Given the description of an element on the screen output the (x, y) to click on. 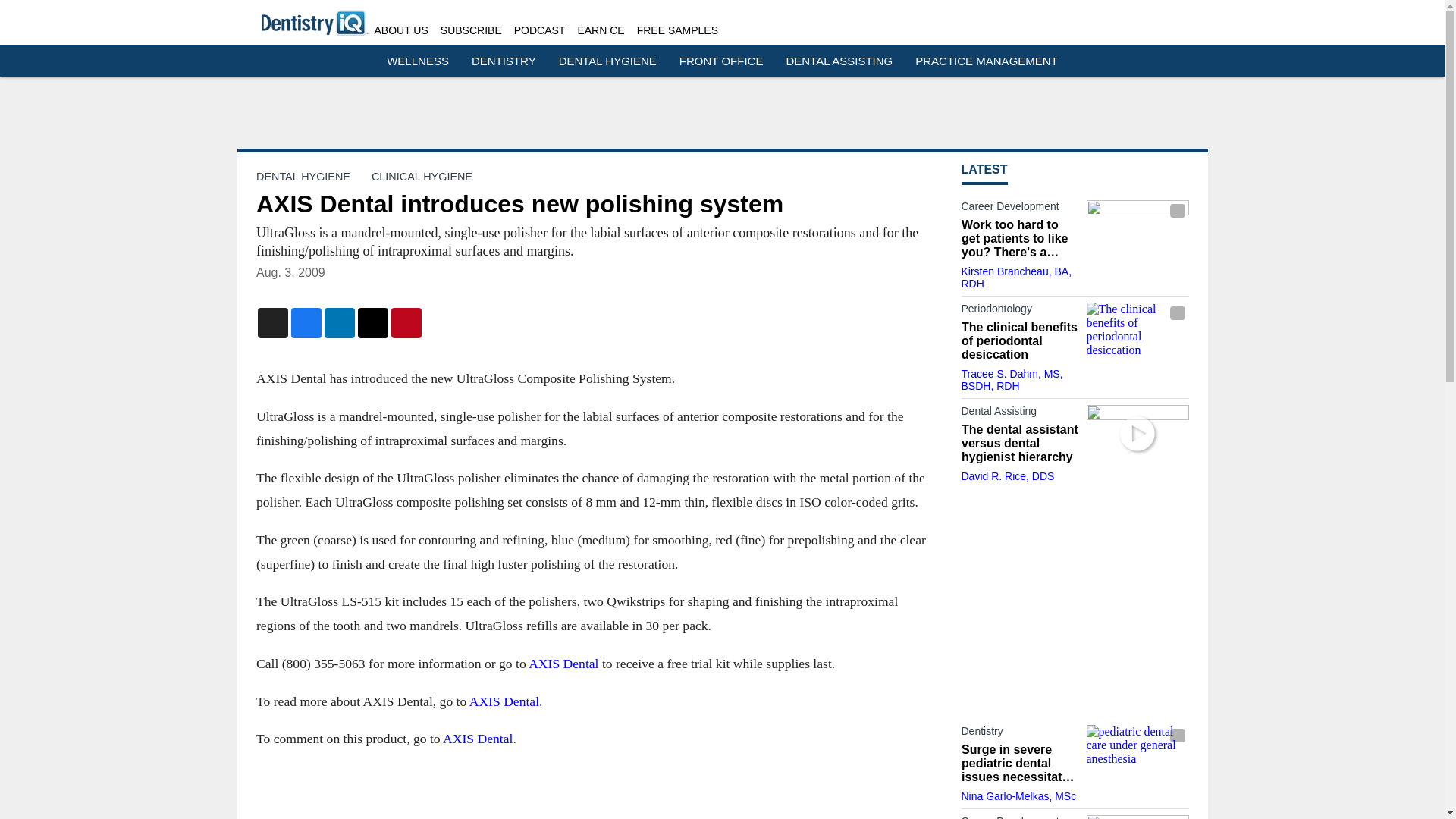
PODCAST (539, 30)
The clinical benefits of periodontal desiccation (1137, 330)
FRONT OFFICE (720, 60)
The dental assistant versus dental hygienist hierarchy (1019, 443)
David R. Rice, DDS (1007, 476)
Nina Garlo-Melkas, MSc (1018, 796)
Career Development (1019, 208)
Tracee S. Dahm, MS, BSDH, RDH (1011, 379)
EARN CE (600, 30)
Periodontology (1019, 311)
AXIS Dental (477, 738)
AXIS Dental (563, 663)
WELLNESS (417, 60)
